Given the description of an element on the screen output the (x, y) to click on. 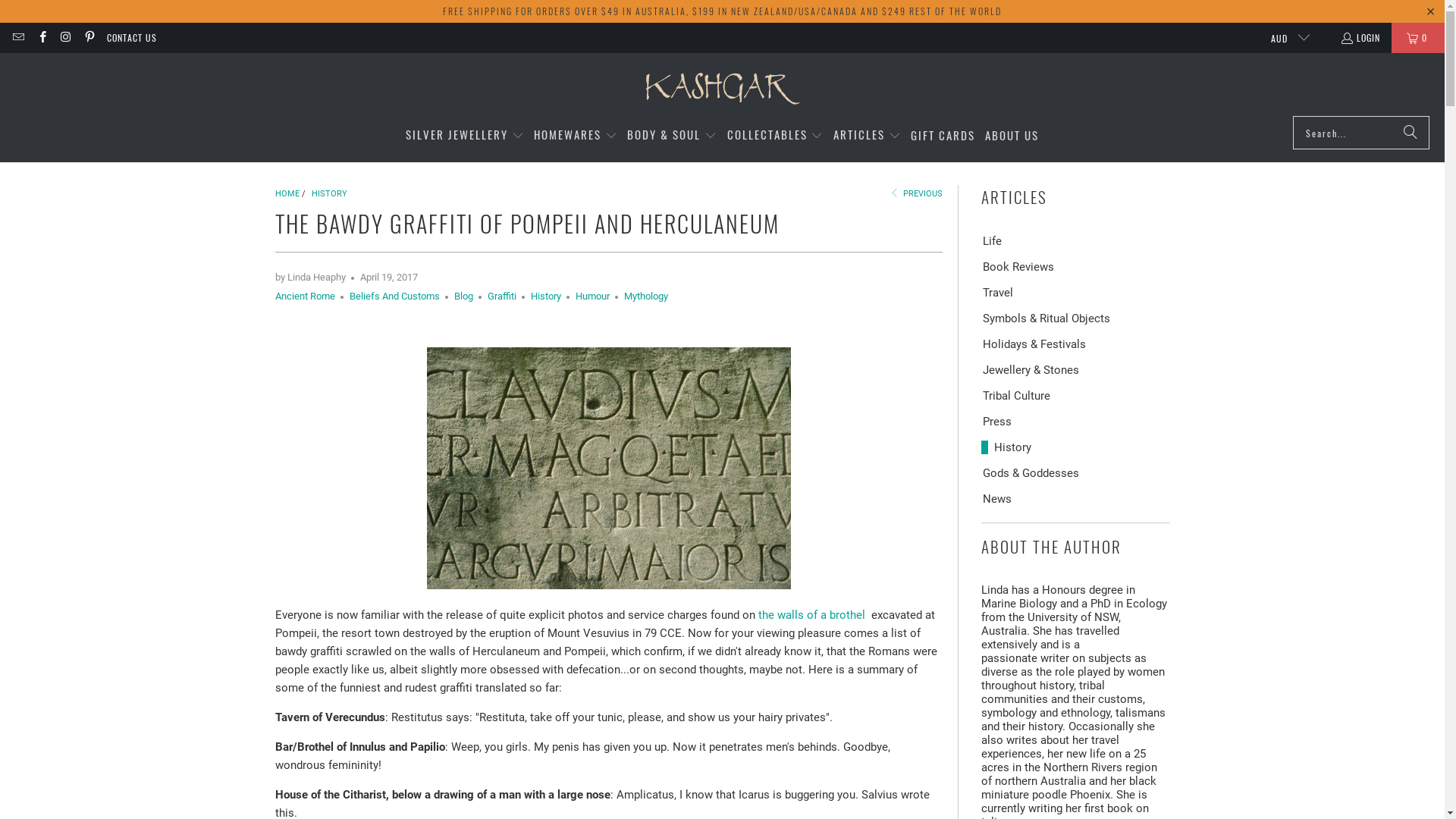
Graffiti Element type: text (500, 295)
Beliefs And Customs Element type: text (393, 295)
Ancient Rome Element type: text (304, 295)
the walls of a brothel Element type: text (811, 614)
PREVIOUS Element type: text (915, 193)
History Element type: text (1006, 446)
LOGIN Element type: text (1359, 37)
Jewellery & Stones Element type: text (1030, 369)
HOME Element type: text (286, 193)
Gods & Goddesses Element type: text (1030, 472)
Mythology Element type: text (645, 295)
Humour Element type: text (591, 295)
Travel Element type: text (997, 291)
News Element type: text (996, 498)
AUD Element type: text (1283, 37)
Book Reviews Element type: text (1017, 266)
HISTORY Element type: text (328, 193)
Email Kashgar Element type: hover (17, 37)
Kashgar on Pinterest Element type: hover (88, 37)
ABOUT US Element type: text (1011, 134)
Symbols & Ritual Objects Element type: text (1045, 317)
Life Element type: text (991, 240)
by Linda Heaphy Element type: text (309, 276)
Tribal Culture Element type: text (1015, 394)
Kashgar on Instagram Element type: hover (65, 37)
Kashgar on Facebook Element type: hover (40, 37)
0 Element type: text (1417, 37)
GIFT CARDS Element type: text (942, 134)
Kashgar Element type: hover (722, 88)
Press Element type: text (996, 420)
Holidays & Festivals Element type: text (1033, 343)
History Element type: text (545, 295)
Blog Element type: text (462, 295)
CONTACT US Element type: text (131, 37)
